Given the description of an element on the screen output the (x, y) to click on. 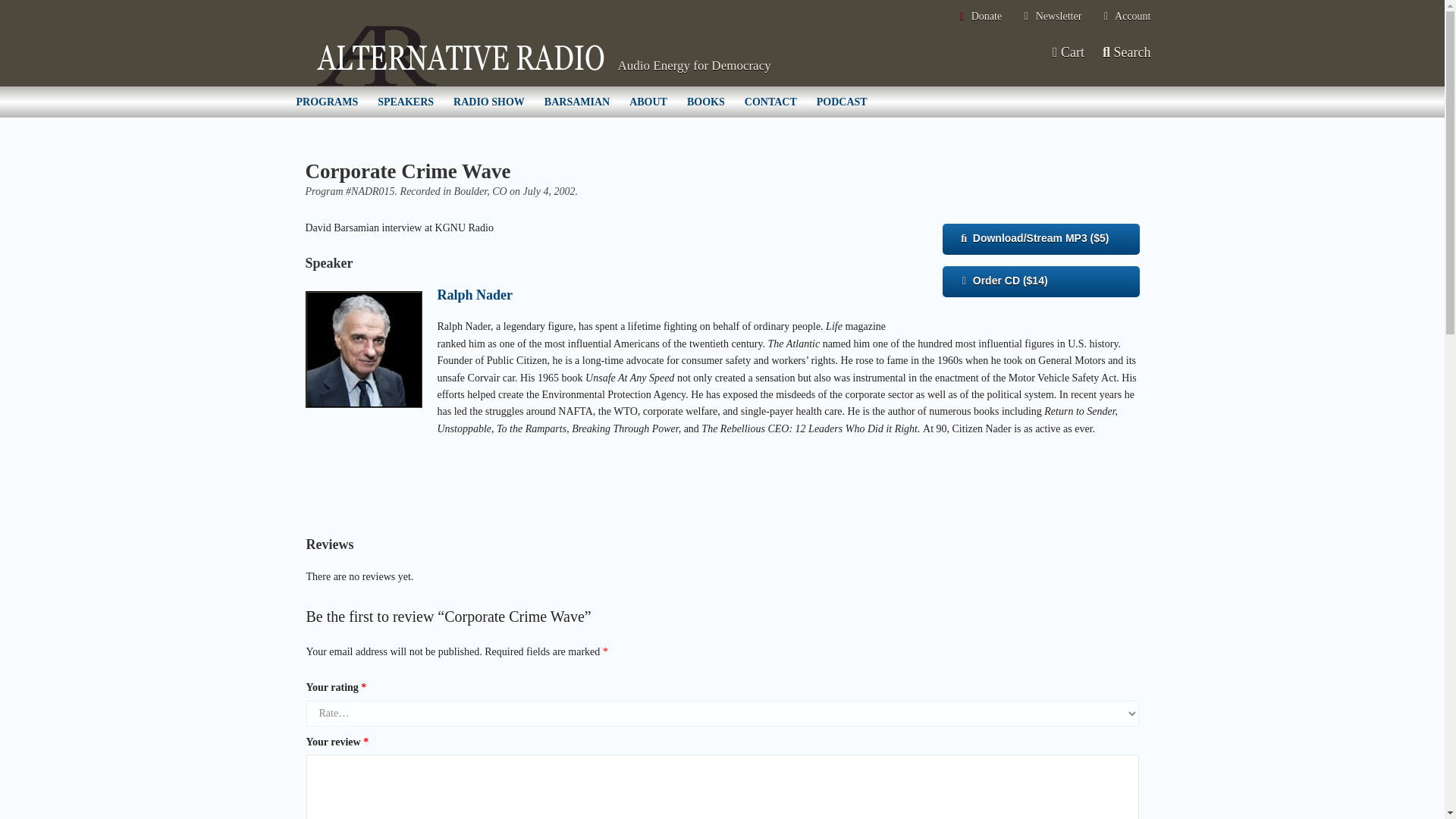
Alternative Radio (460, 55)
SPEAKERS (406, 101)
PROGRAMS (327, 101)
Search (1126, 52)
Account (1125, 16)
Donate (978, 16)
Newsletter (1050, 16)
Cart (1066, 52)
